Given the description of an element on the screen output the (x, y) to click on. 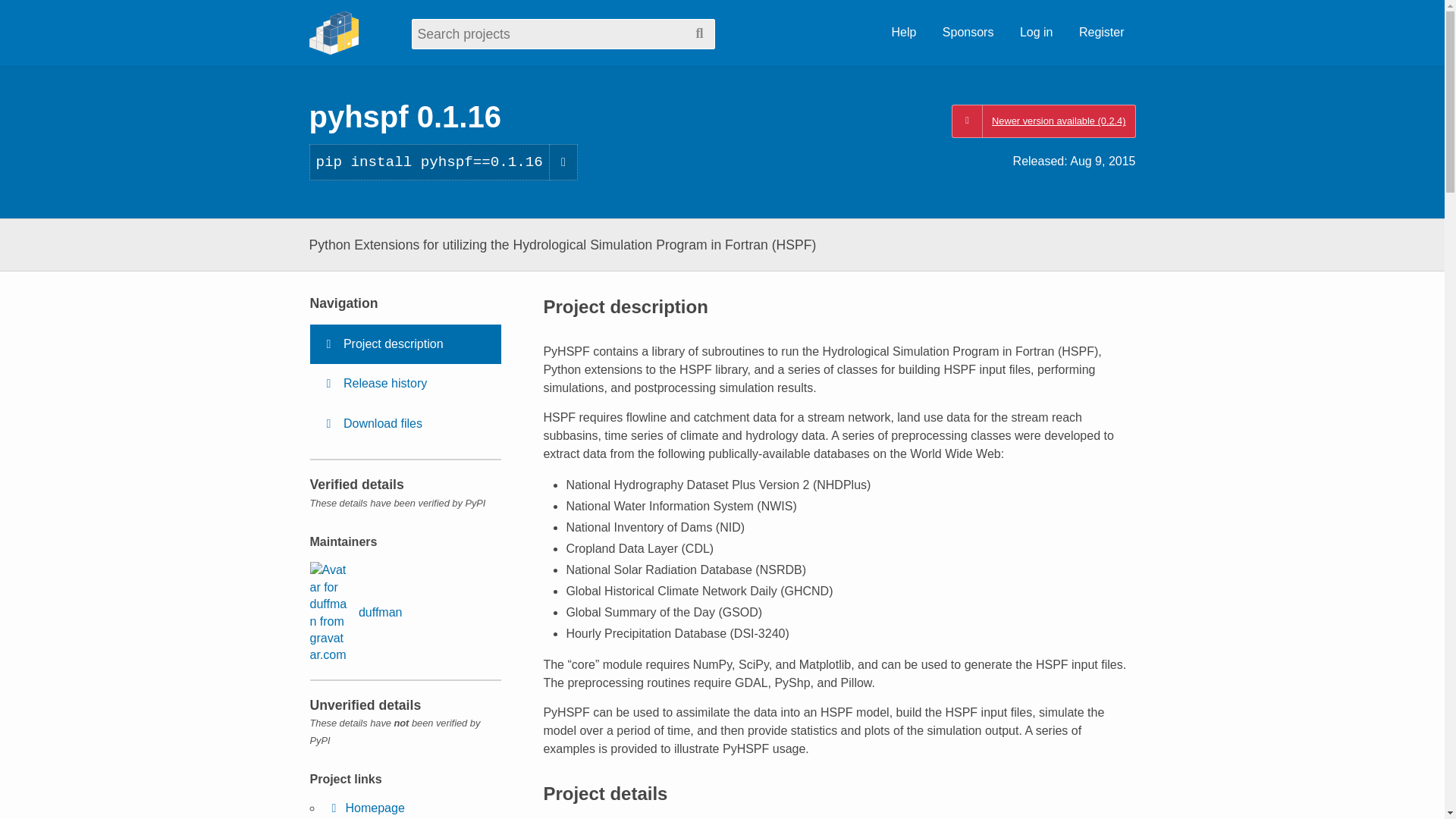
Download files (404, 423)
Register (1101, 32)
Search (699, 33)
Project description (404, 343)
Homepage (365, 807)
Release history (404, 383)
Sponsors (968, 32)
duffman (354, 612)
